Given the description of an element on the screen output the (x, y) to click on. 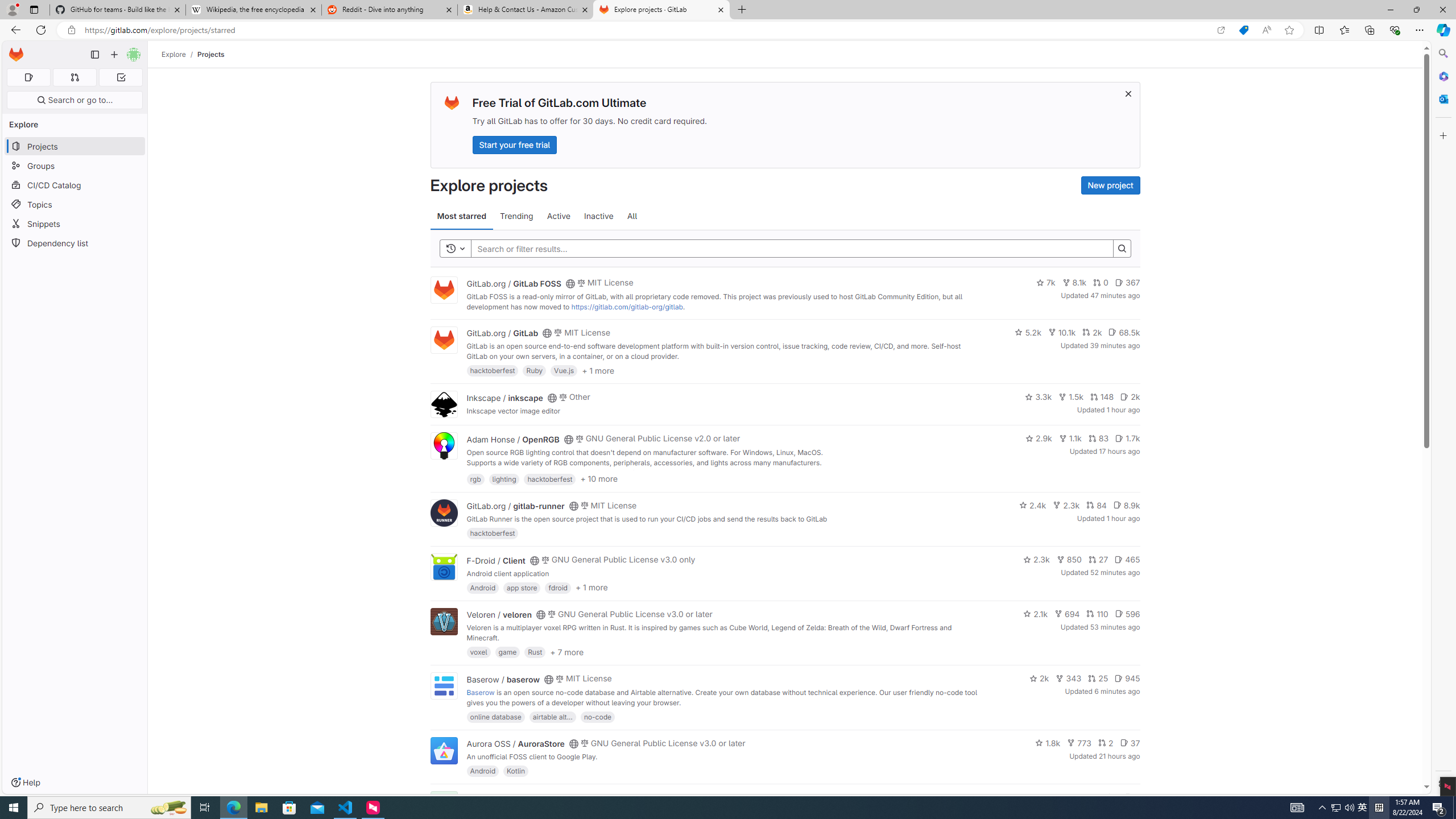
2.3k (1035, 559)
app store (521, 587)
Adam Honse / OpenRGB (512, 438)
Assigned issues 0 (28, 76)
Primary navigation sidebar (94, 54)
2 (1105, 742)
1.1k (1069, 438)
Class: project (443, 750)
CI/CD Catalog (74, 185)
